Given the description of an element on the screen output the (x, y) to click on. 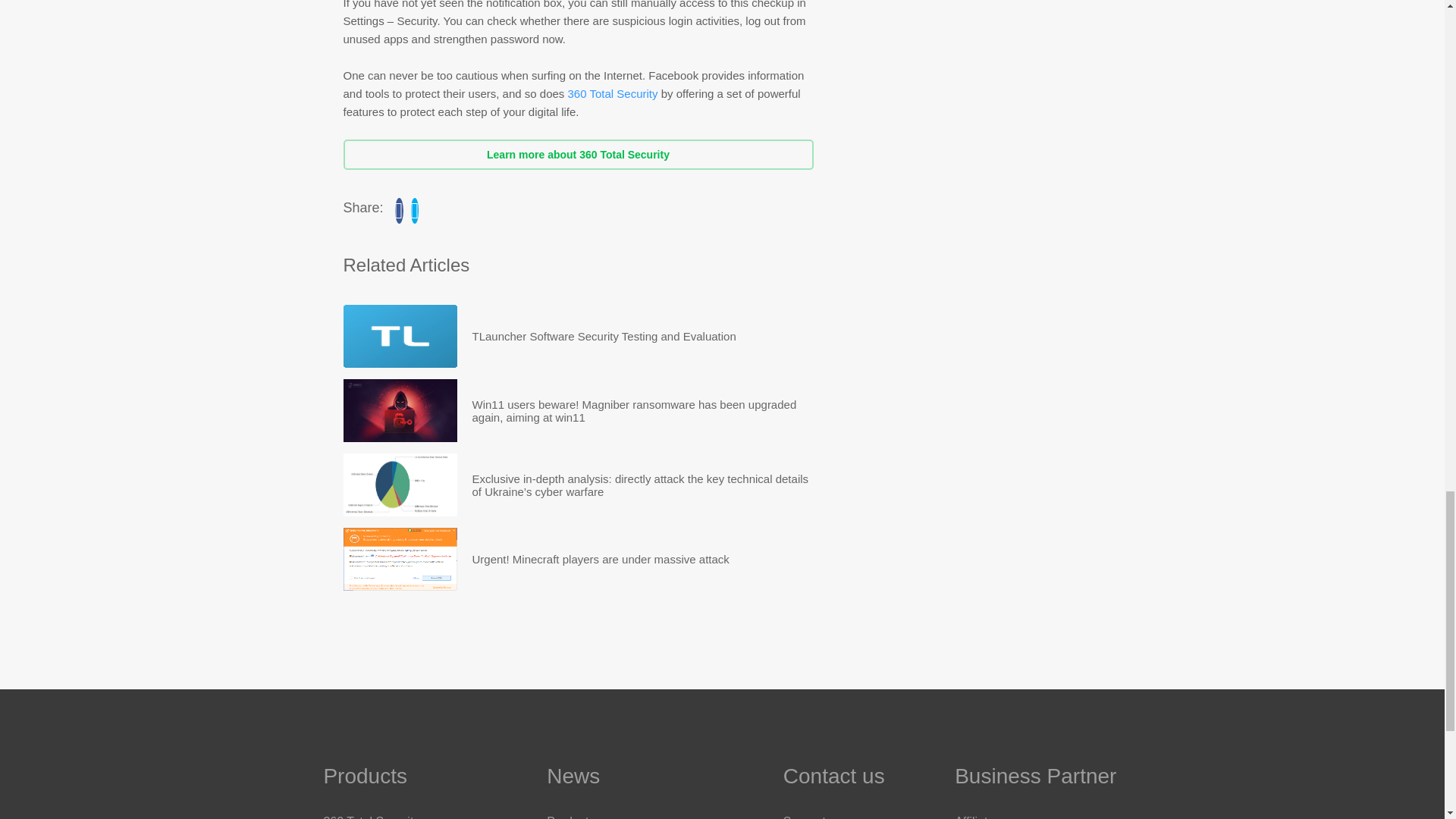
Urgent! Minecraft players are under massive attack (600, 558)
Urgent! Minecraft players are under massive attack (399, 558)
TLauncher Software Security Testing and Evaluation (399, 335)
360 Total Security (611, 92)
Learn more about 360 Total Security (577, 154)
Urgent! Minecraft players are under massive attack (600, 558)
TLauncher Software Security Testing and Evaluation (603, 335)
TLauncher Software Security Testing and Evaluation (603, 335)
Learn more about 360 Total Security (577, 154)
